Given the description of an element on the screen output the (x, y) to click on. 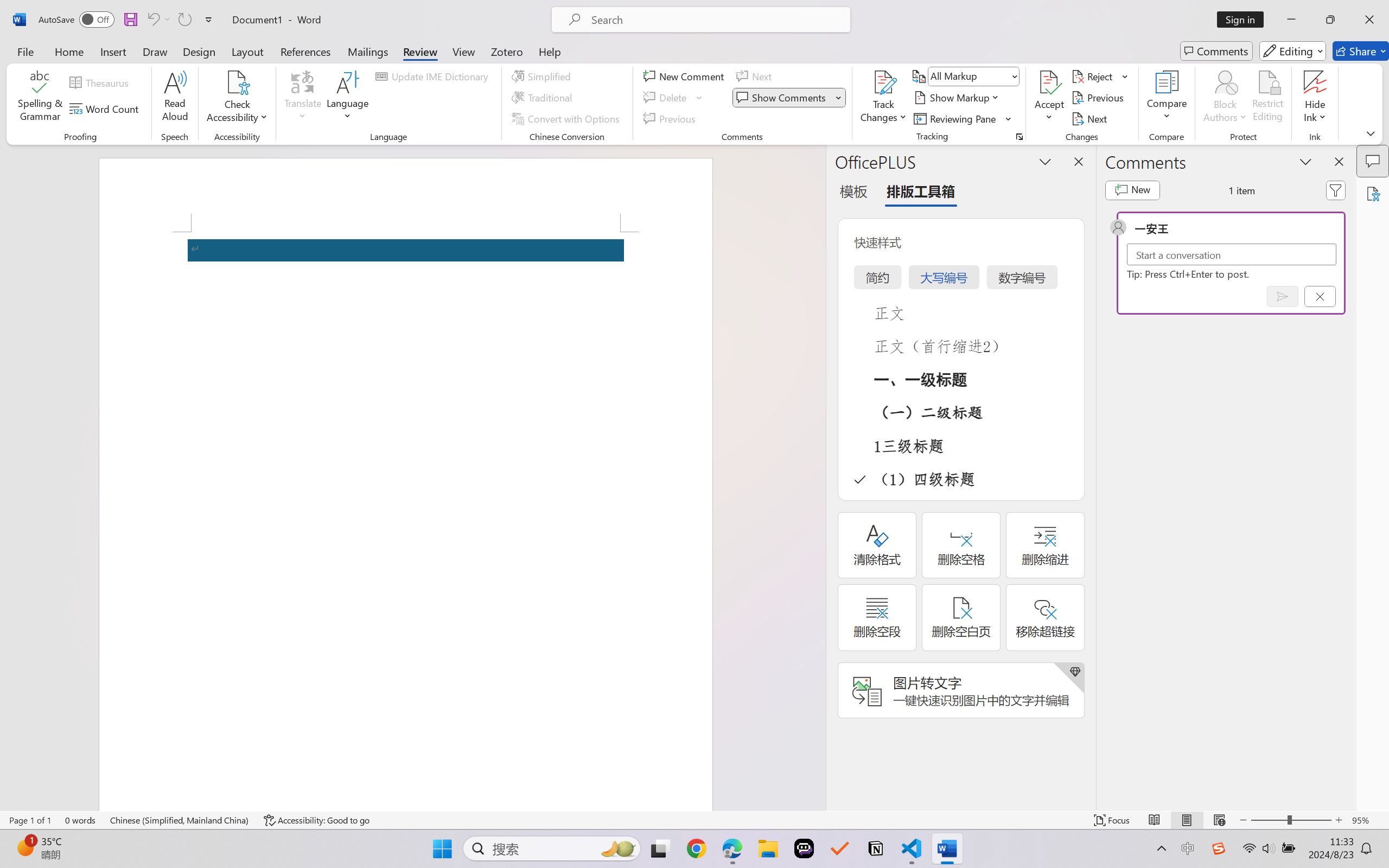
New comment (1132, 190)
Delete (673, 97)
Reject and Move to Next (1093, 75)
Hide Ink (1315, 97)
Spelling & Grammar (39, 97)
Convert with Options... (567, 118)
